Given the description of an element on the screen output the (x, y) to click on. 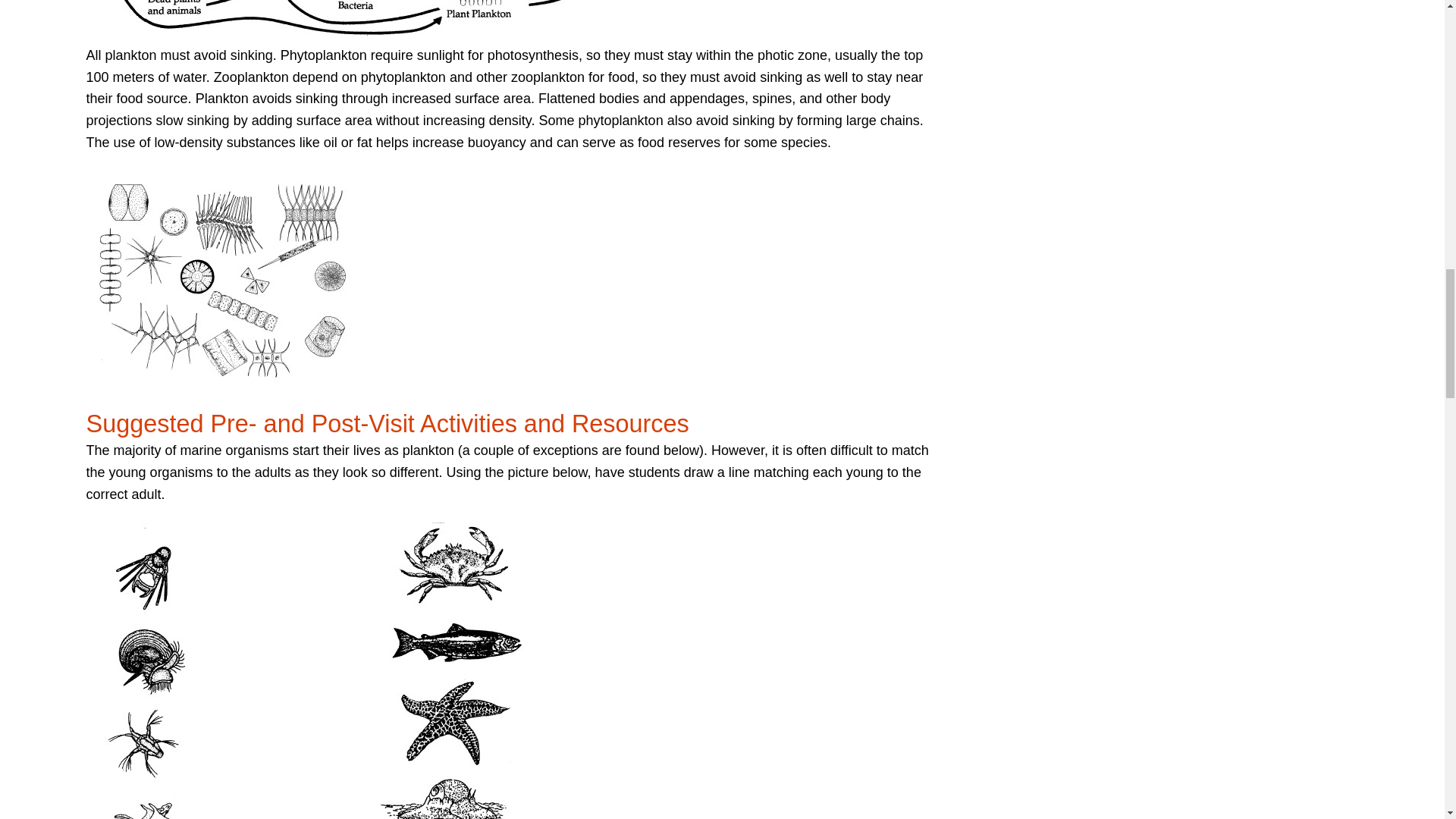
Diagram of a rocky shore food web. (381, 22)
Fifteen different types of phytoplankton. (223, 282)
